Given the description of an element on the screen output the (x, y) to click on. 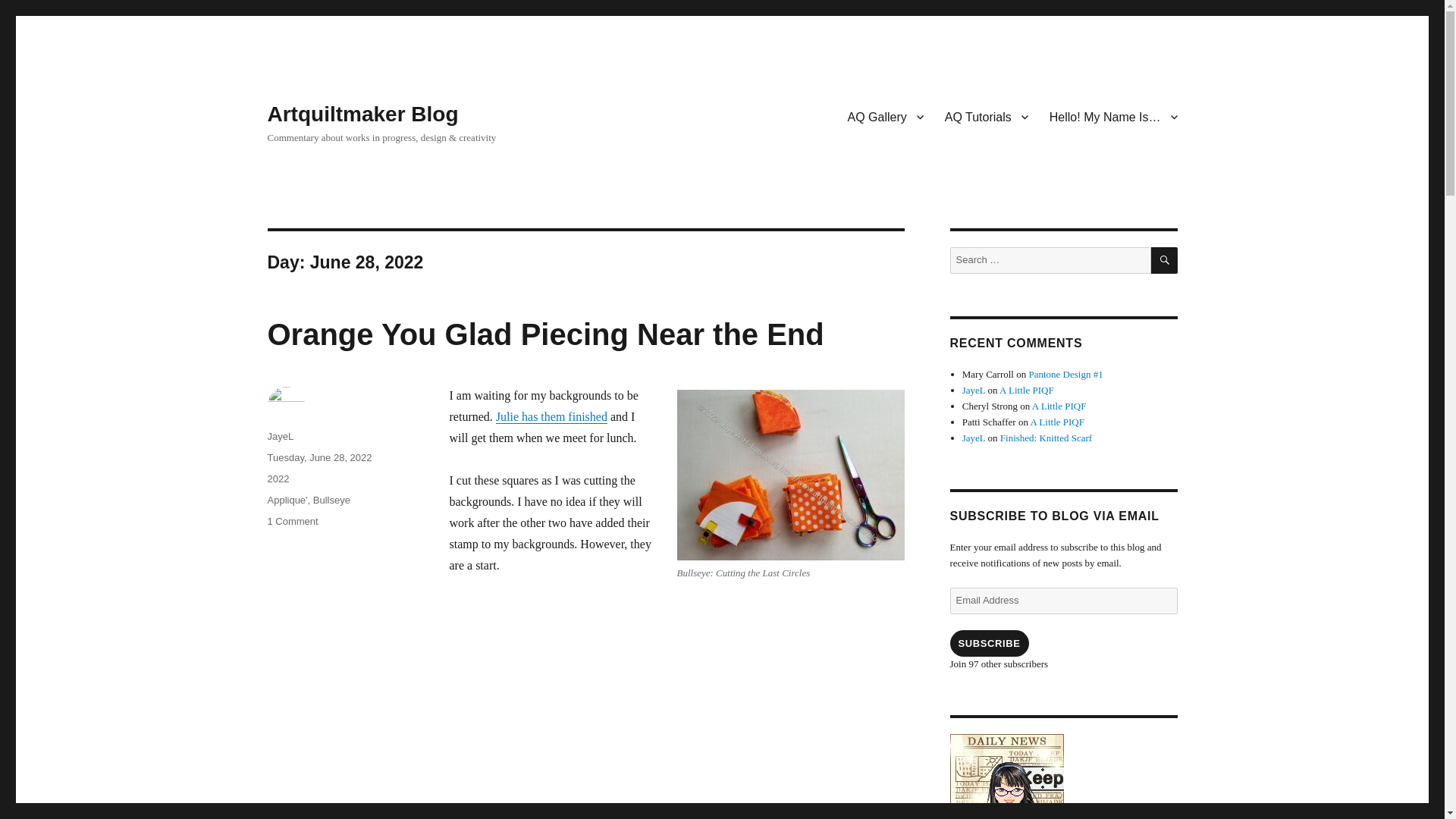
Artquiltmaker Blog (362, 114)
Jaye, Artquiltmaker.com (1062, 776)
AQ Gallery (885, 116)
